Given the description of an element on the screen output the (x, y) to click on. 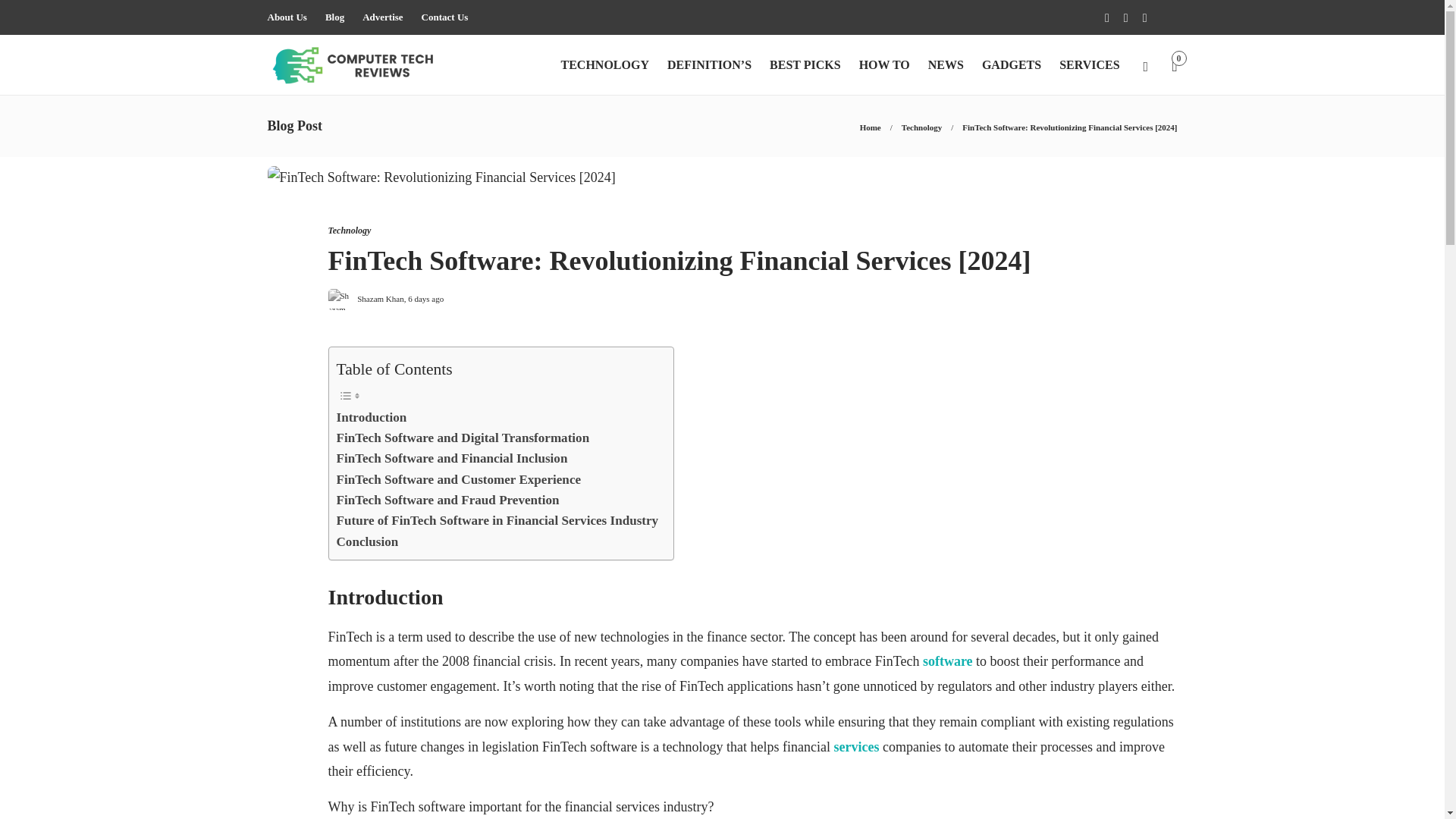
Future of FinTech Software in Financial Services Industry (497, 520)
Home (870, 126)
Introduction (371, 417)
FinTech Software and Customer Experience (458, 479)
Conclusion (367, 541)
Contact Us (445, 17)
Home (870, 126)
BEST PICKS (805, 65)
GADGETS (1011, 65)
Technology (349, 230)
